Given the description of an element on the screen output the (x, y) to click on. 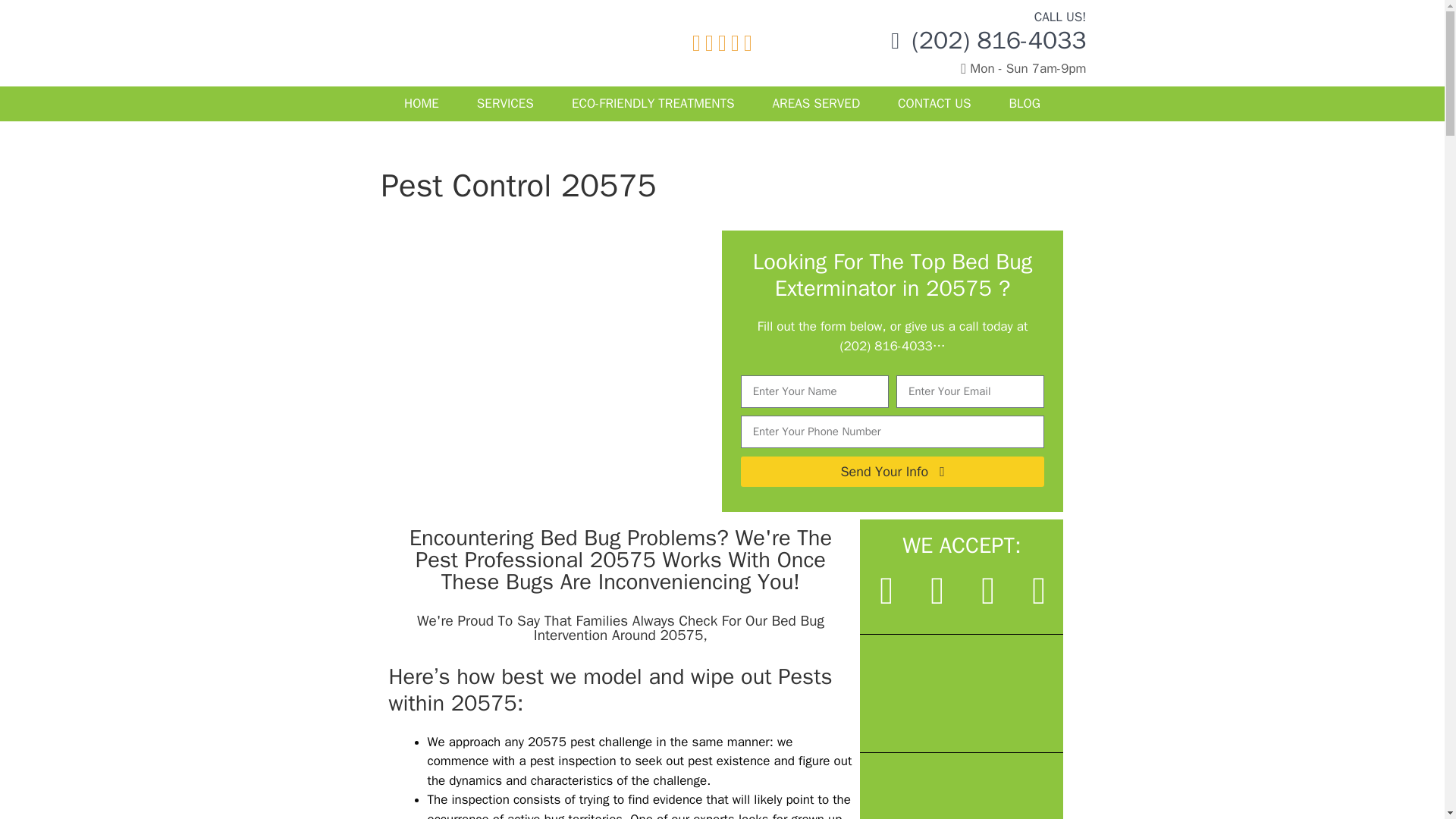
SERVICES (505, 103)
AREAS SERVED (816, 103)
HOME (421, 103)
ECO-FRIENDLY TREATMENTS (653, 103)
